Given the description of an element on the screen output the (x, y) to click on. 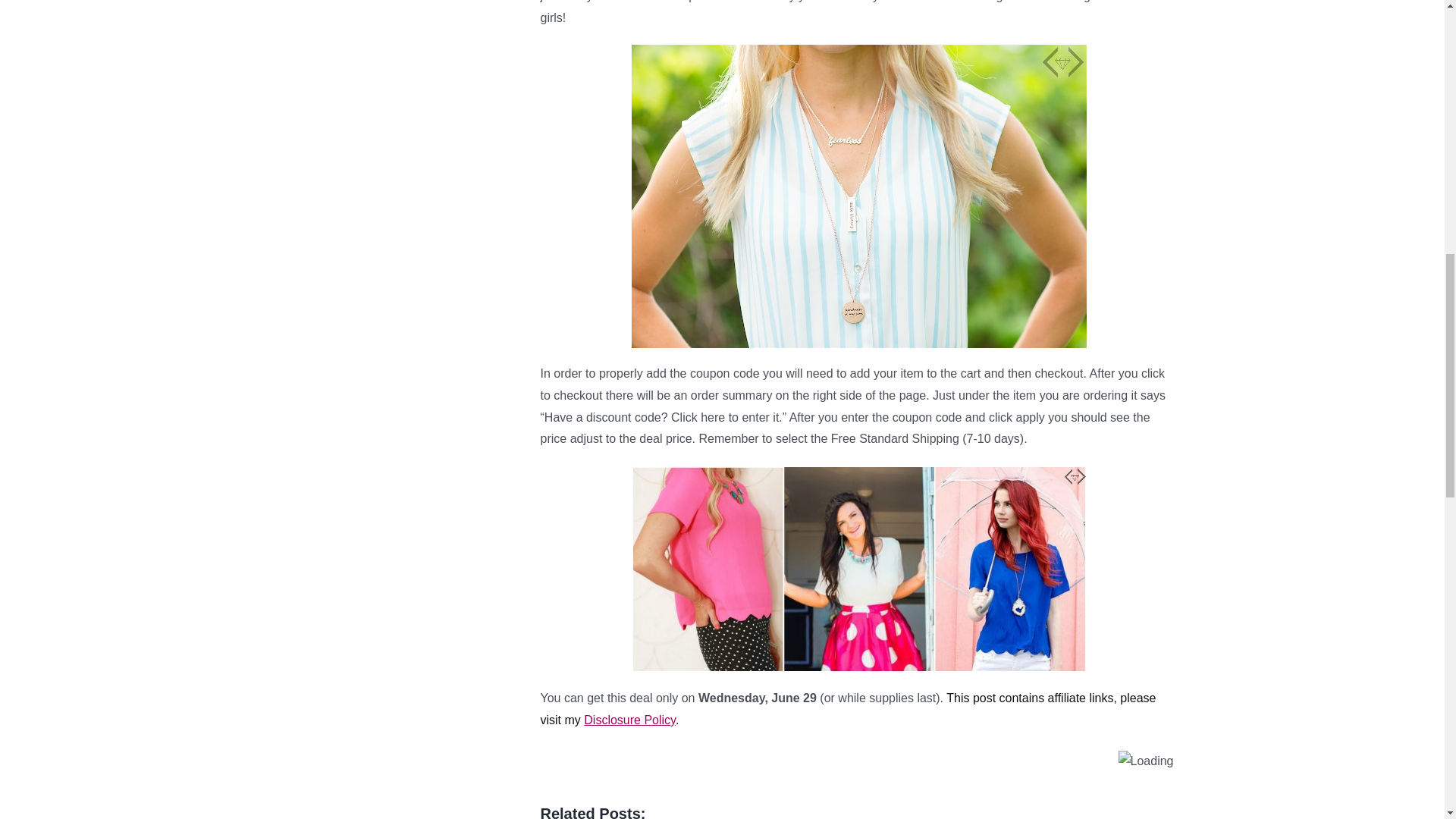
Disclosure Policy (629, 719)
